Given the description of an element on the screen output the (x, y) to click on. 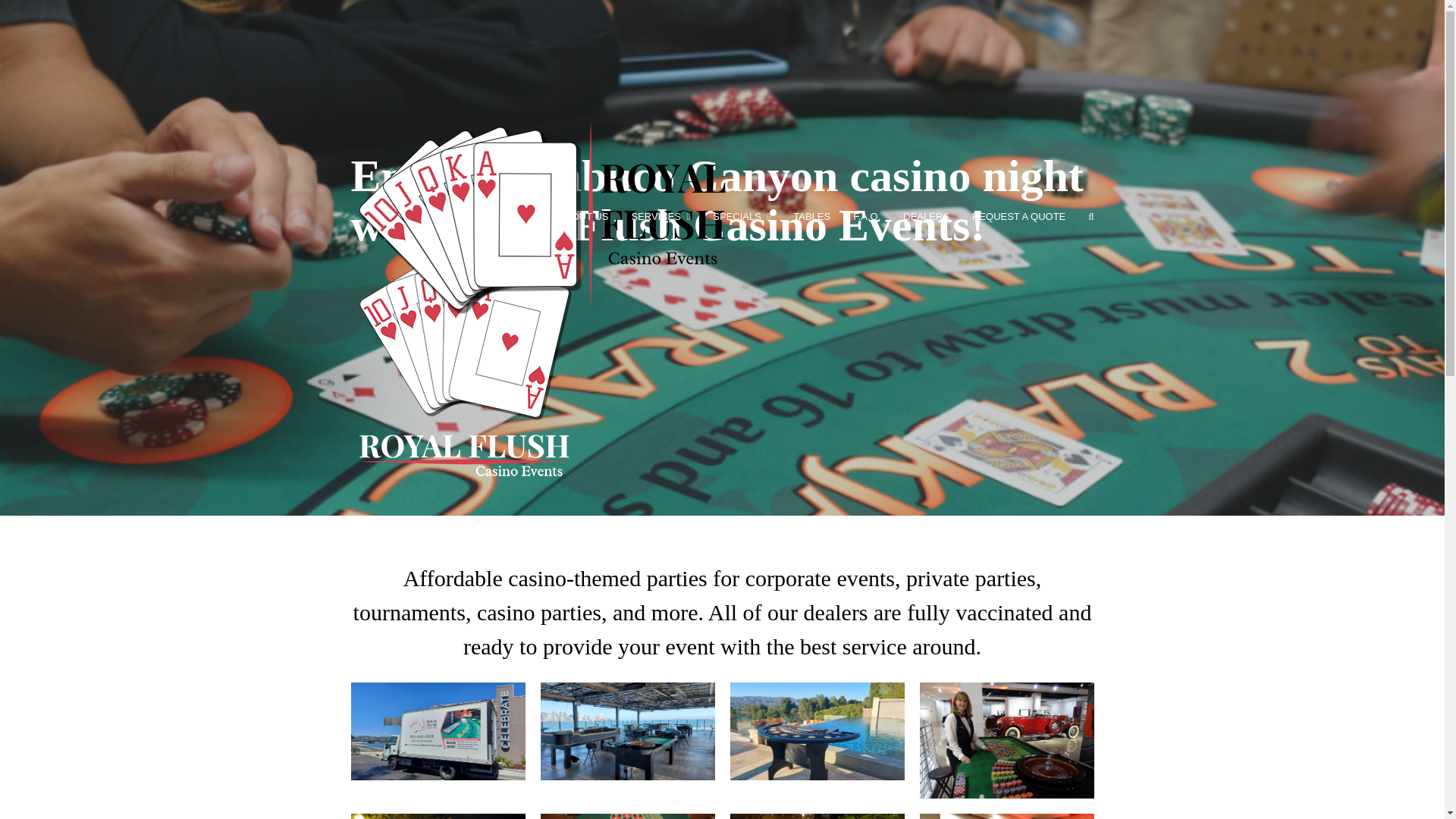
TABLES (811, 216)
RF-logo-footer (464, 367)
F.A.Q. (866, 216)
SERVICES (660, 216)
ABOUT US (583, 216)
SPECIALS (741, 216)
DEALERS (925, 216)
REQUEST A QUOTE (1018, 216)
